Given the description of an element on the screen output the (x, y) to click on. 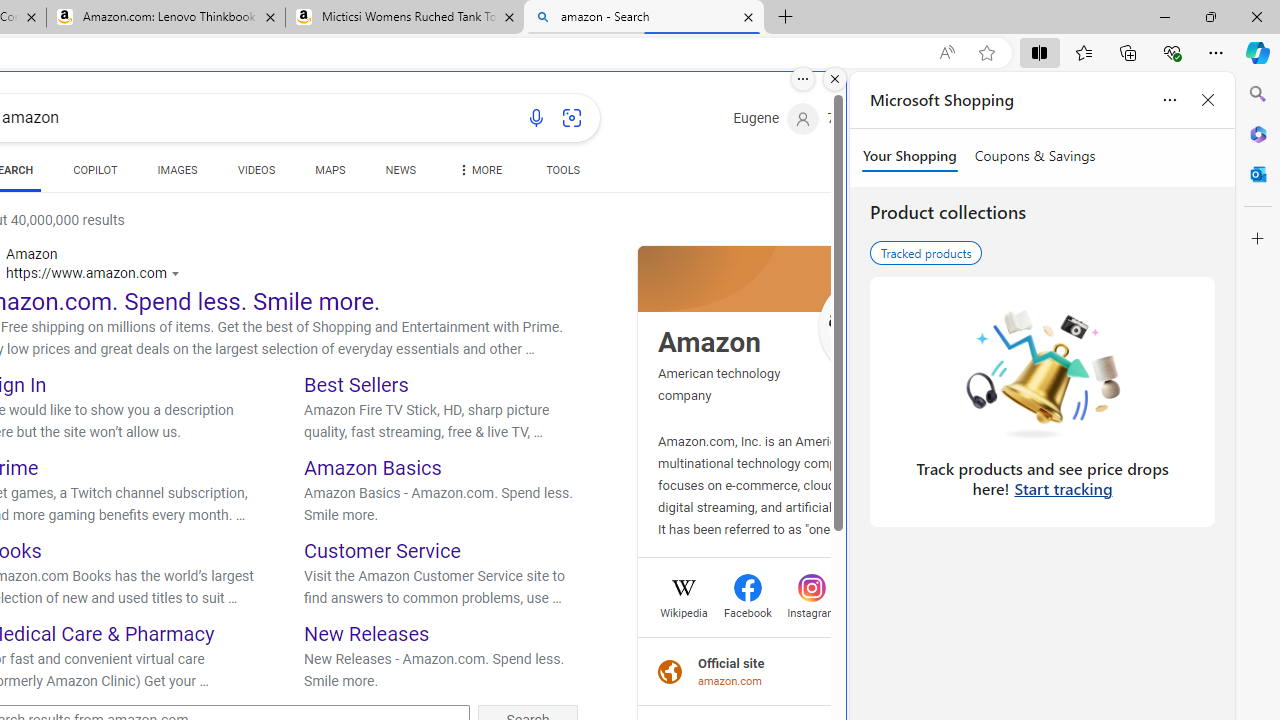
IMAGES (177, 173)
IMAGES (177, 170)
Amazon Basics (372, 467)
NEWS (400, 173)
MAPS (330, 173)
Best Sellers (356, 384)
Close split screen. (835, 79)
Dropdown Menu (478, 170)
COPILOT (95, 170)
NEWS (400, 170)
